Given the description of an element on the screen output the (x, y) to click on. 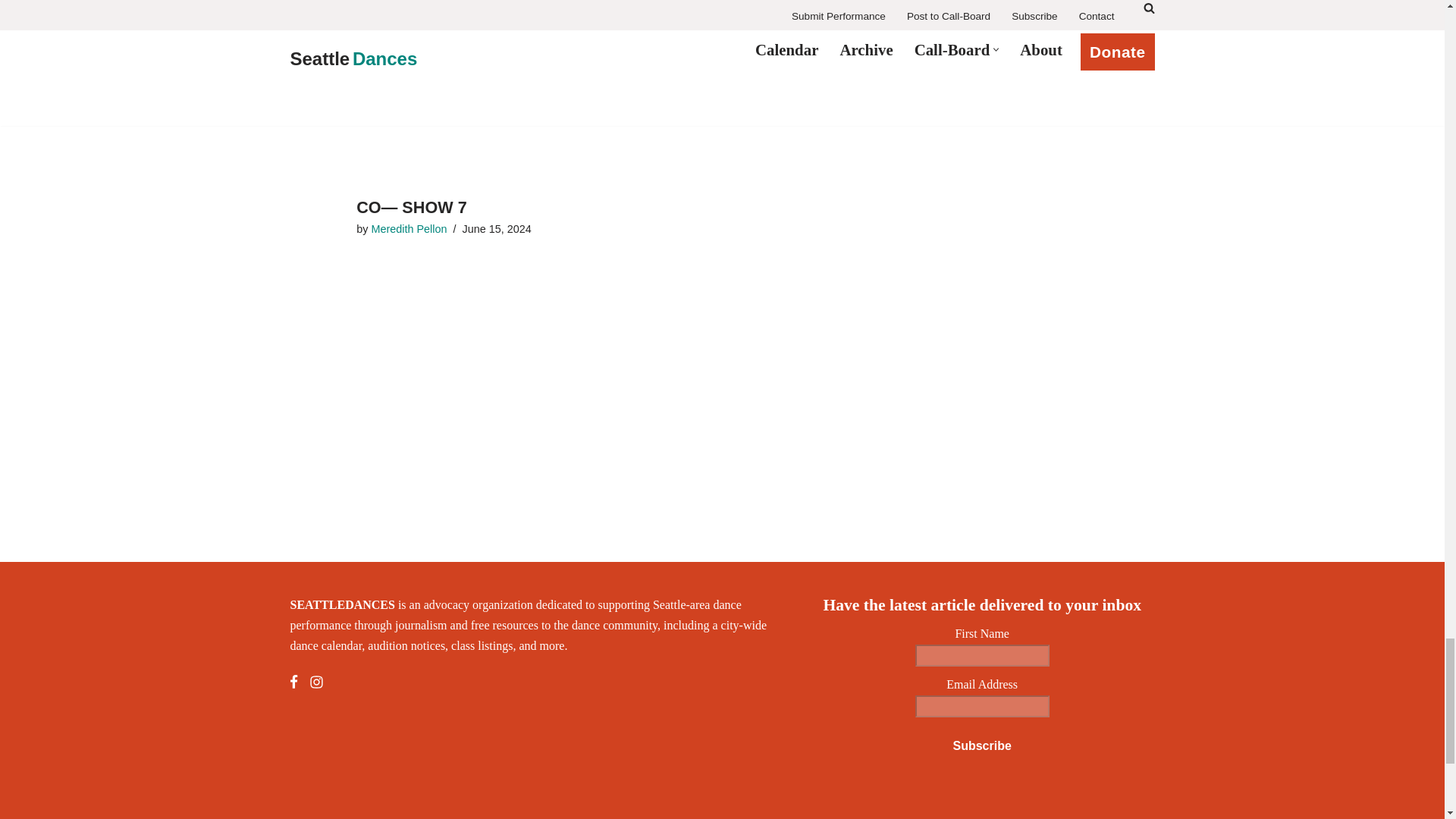
Posts by Meredith Pellon (408, 228)
Subscribe (981, 746)
